Given the description of an element on the screen output the (x, y) to click on. 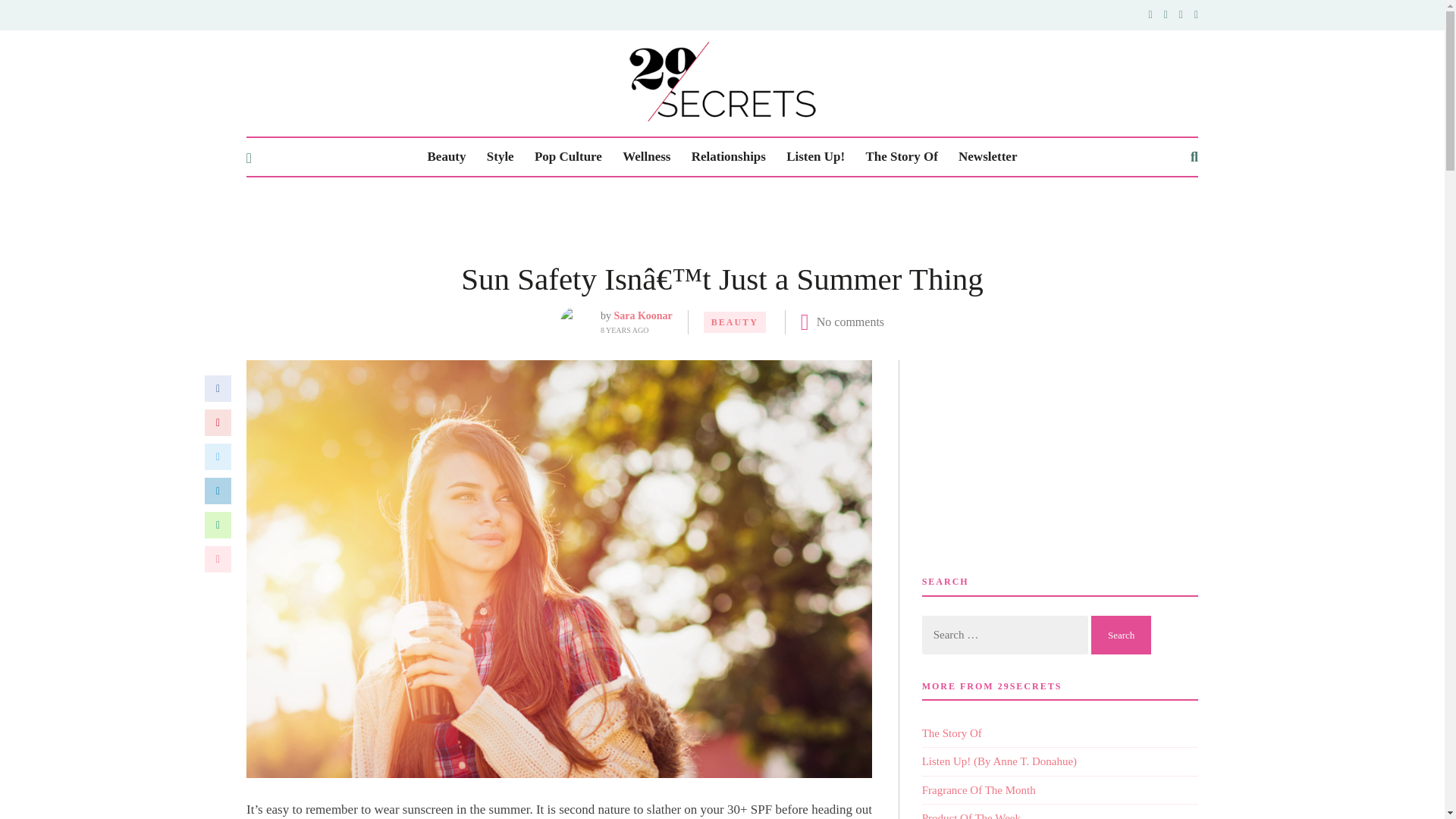
Beauty (446, 157)
BEAUTY (734, 322)
Newsletter (987, 157)
No comments (849, 321)
Search (1120, 634)
Relationships (728, 157)
Pop Culture (568, 157)
The Story Of (900, 157)
Listen Up! (815, 157)
29Secrets (721, 81)
Wellness (646, 157)
Search (1120, 634)
Sara Koonar (641, 315)
